Given the description of an element on the screen output the (x, y) to click on. 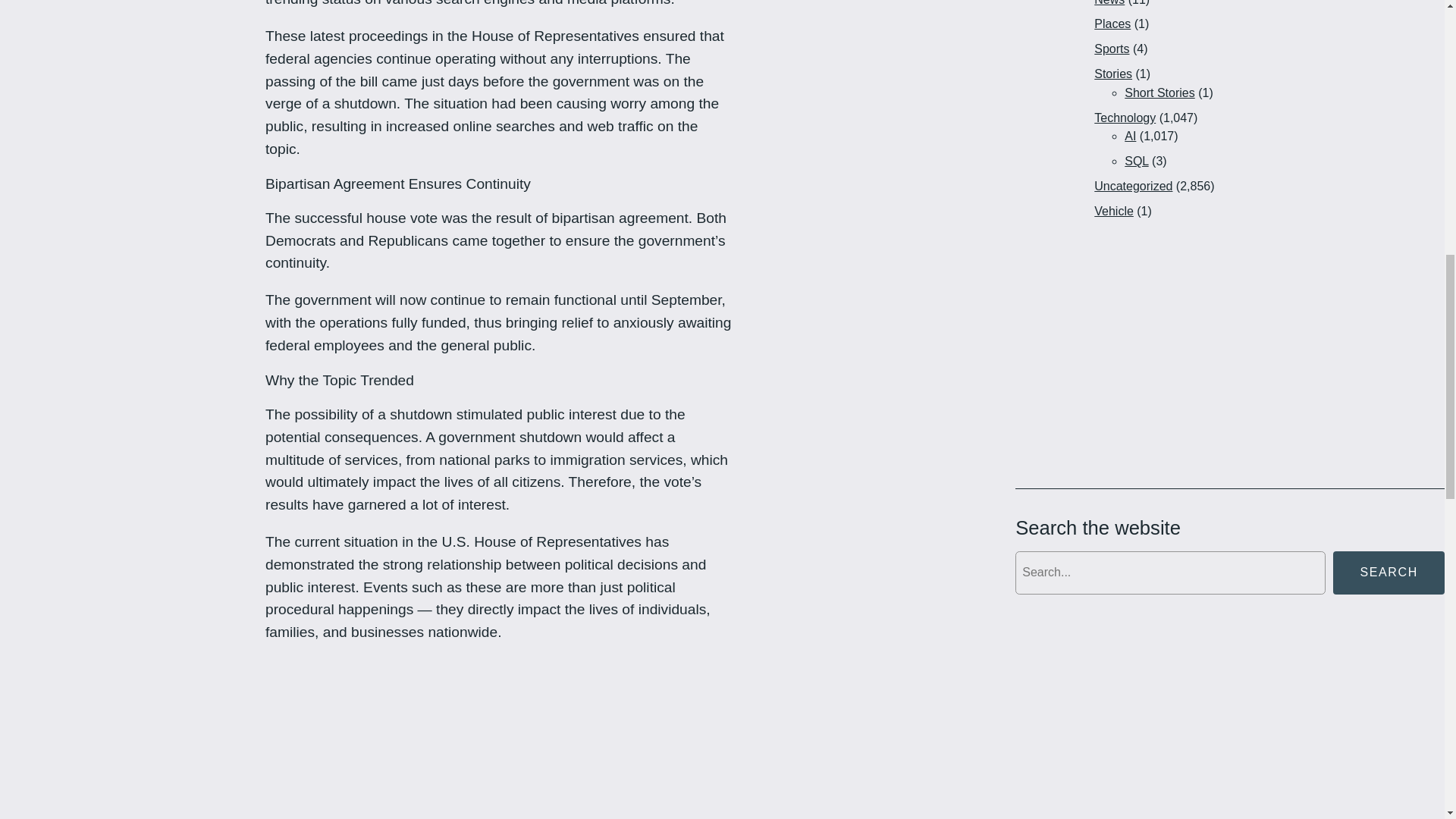
Advertisement (499, 738)
News (1109, 2)
Places (1112, 23)
